Given the description of an element on the screen output the (x, y) to click on. 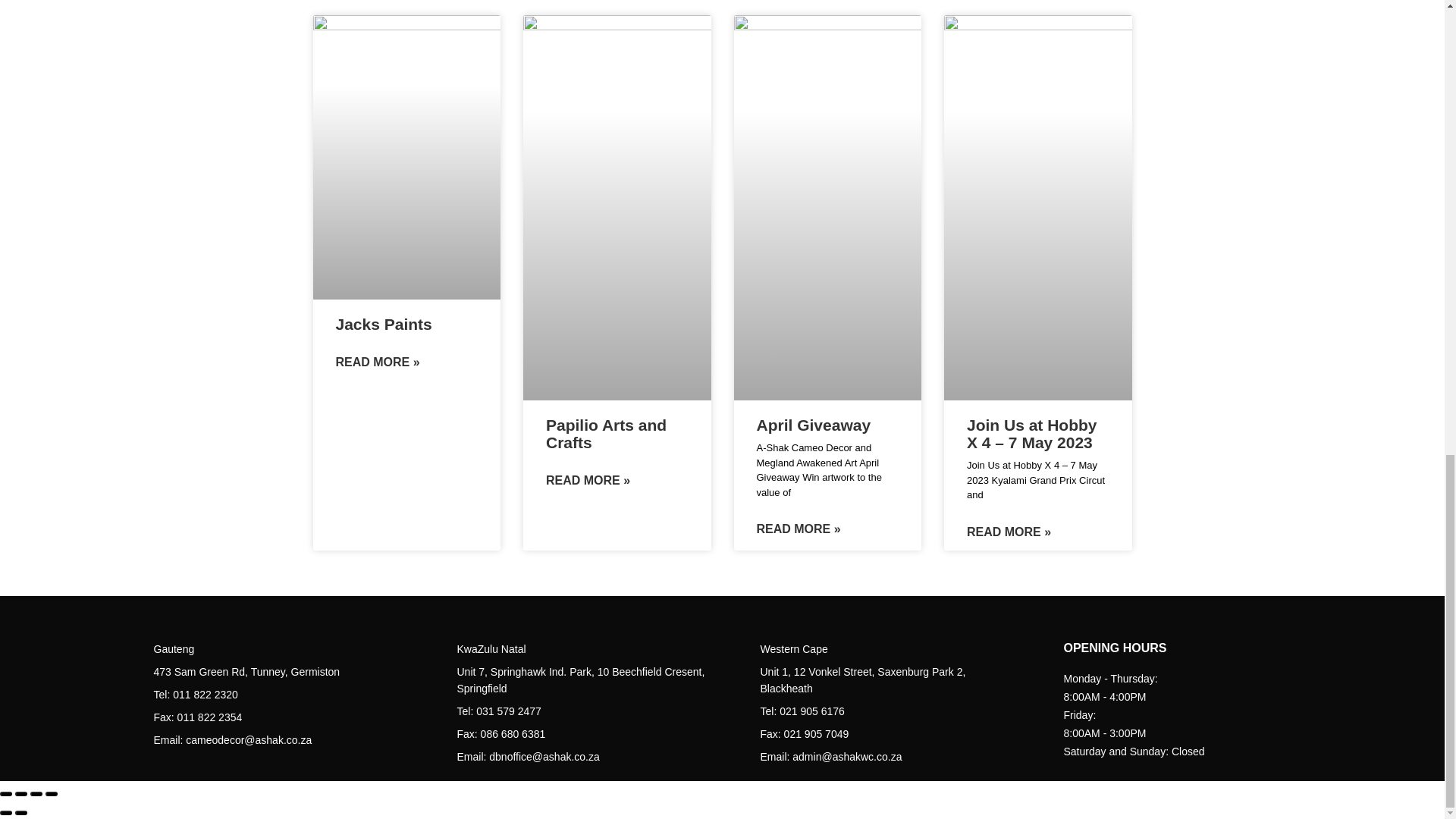
April Giveaway (813, 425)
Papilio Arts and Crafts (606, 433)
Jacks Paints (382, 323)
